Given the description of an element on the screen output the (x, y) to click on. 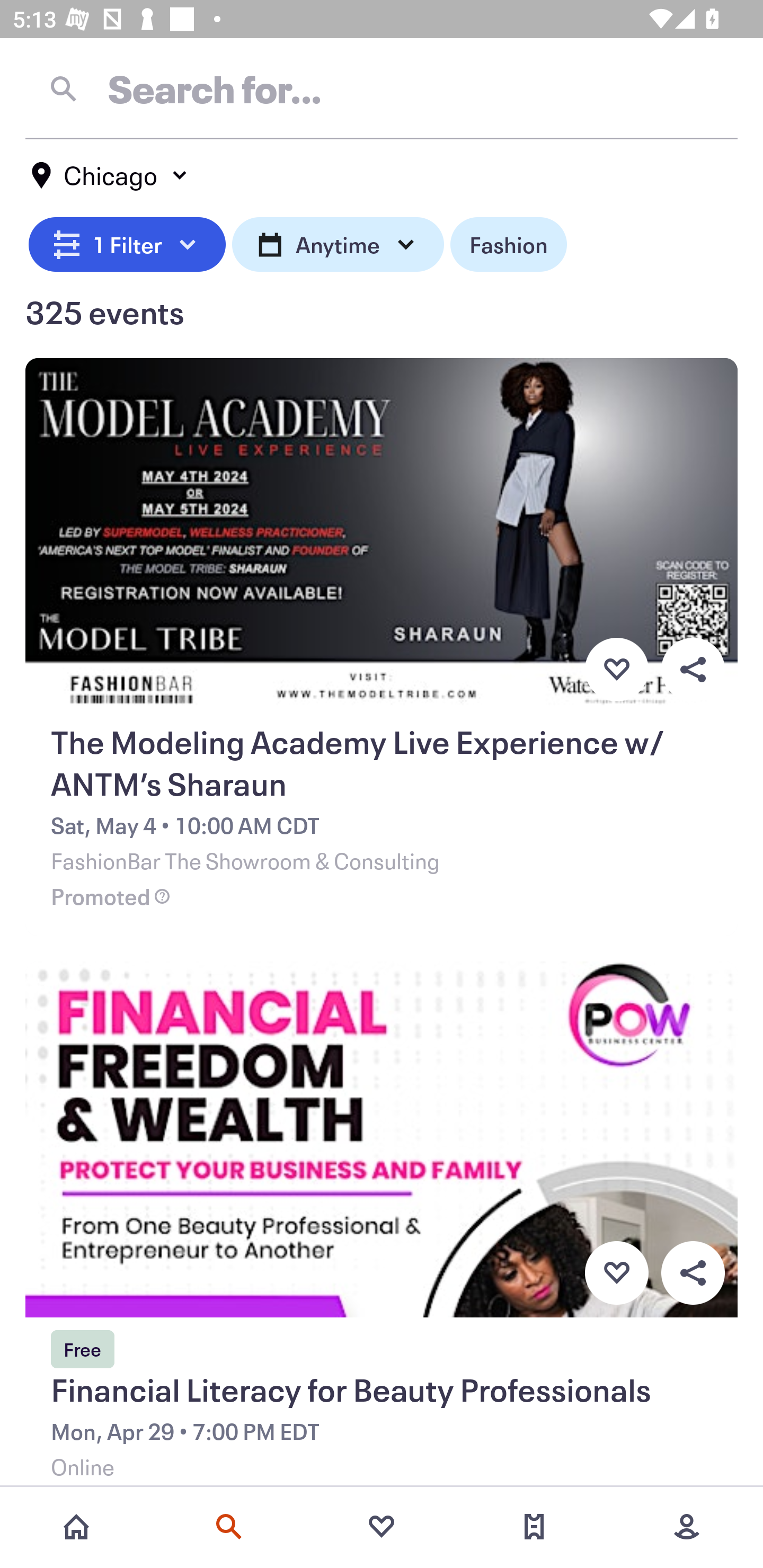
Search for… (381, 88)
Chicago (110, 175)
1 Filter (126, 241)
Anytime (337, 241)
Fashion (508, 241)
Favorite button (616, 669)
Overflow menu button (692, 669)
Favorite button (616, 1272)
Overflow menu button (692, 1272)
Home (76, 1526)
Search events (228, 1526)
Favorites (381, 1526)
Tickets (533, 1526)
More (686, 1526)
